Given the description of an element on the screen output the (x, y) to click on. 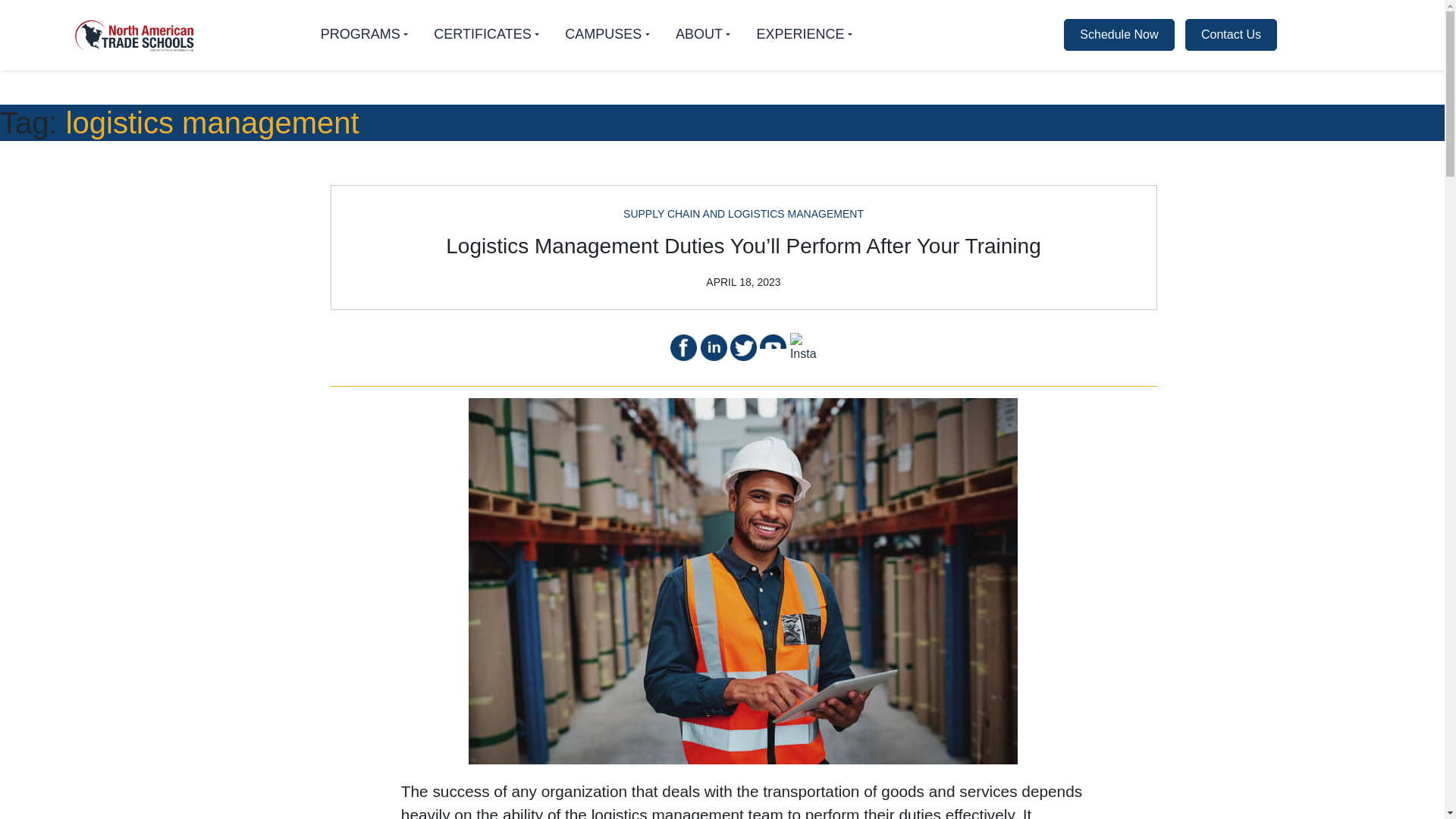
Schedule Now (1118, 33)
Schedule Now (1117, 33)
SUPPLY CHAIN AND LOGISTICS MANAGEMENT (743, 213)
ABOUT (702, 34)
Contact Us (1230, 33)
PROGRAMS (364, 34)
EXPERIENCE (803, 34)
CERTIFICATES (485, 34)
CAMPUSES (606, 34)
